Given the description of an element on the screen output the (x, y) to click on. 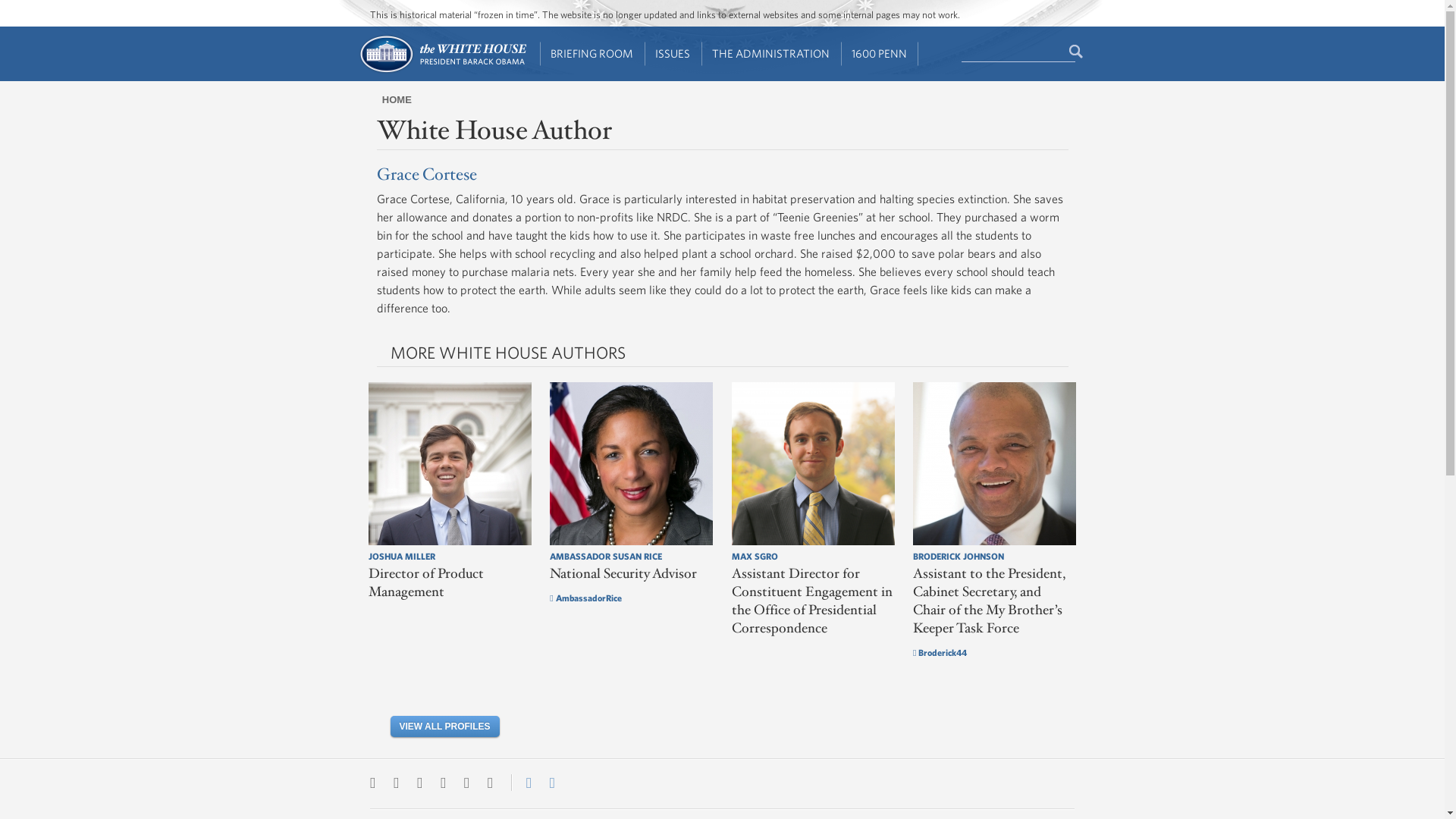
Home (441, 70)
Enter the terms you wish to search for. (1017, 52)
Broderick Johnson (993, 463)
BRIEFING ROOM (592, 53)
Contact the Whitehouse. (521, 782)
ISSUES (673, 53)
Search (1076, 51)
